Given the description of an element on the screen output the (x, y) to click on. 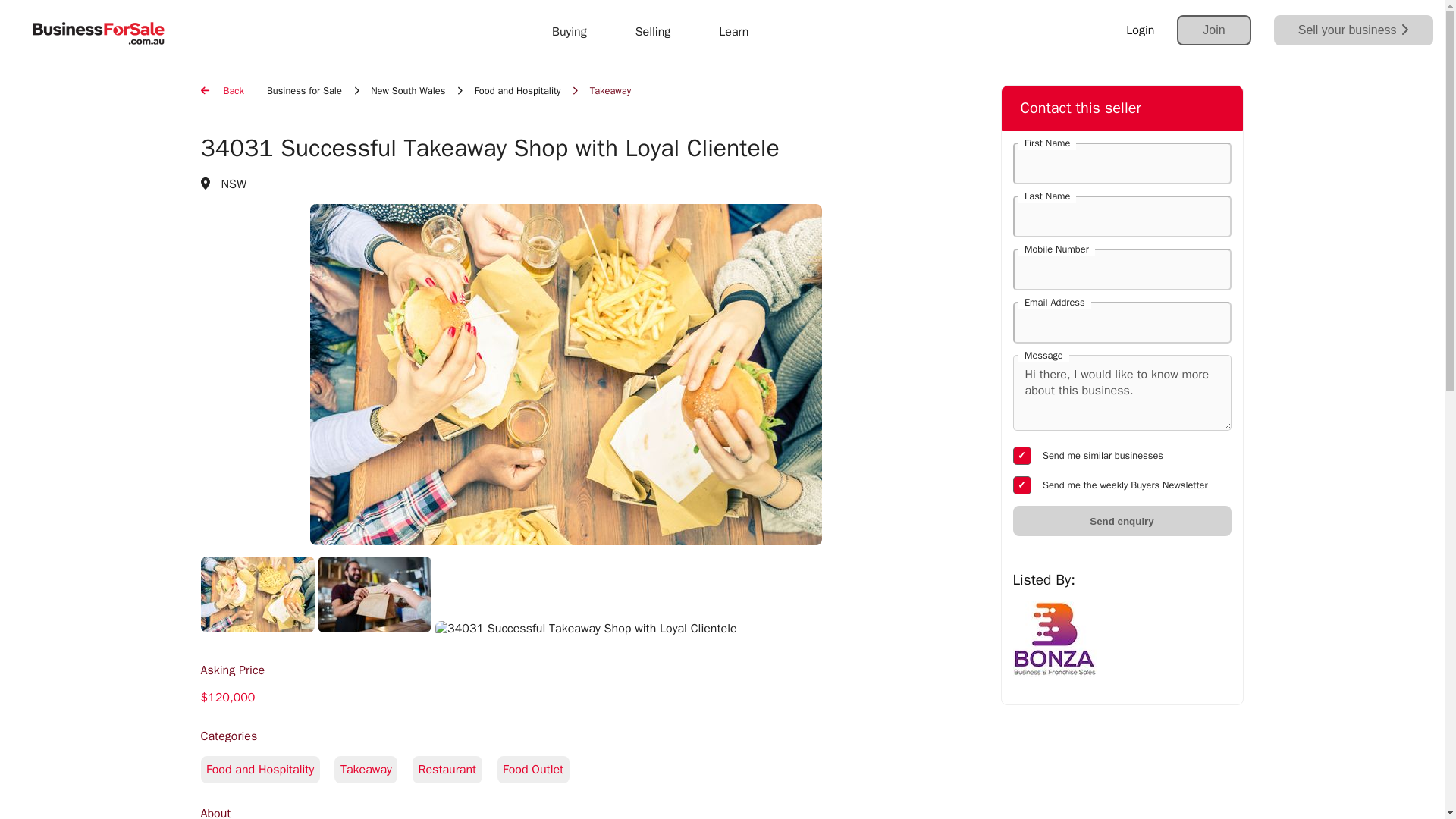
Food Outlet (538, 768)
New South Wales (408, 91)
Restaurant (454, 768)
Send enquiry (1122, 521)
Food and Hospitality (565, 785)
Join (1213, 30)
Food and Hospitality (517, 91)
Takeaway (373, 768)
Login (1139, 30)
Sell your business (1353, 30)
Business for Sale (304, 91)
Back (221, 91)
